Given the description of an element on the screen output the (x, y) to click on. 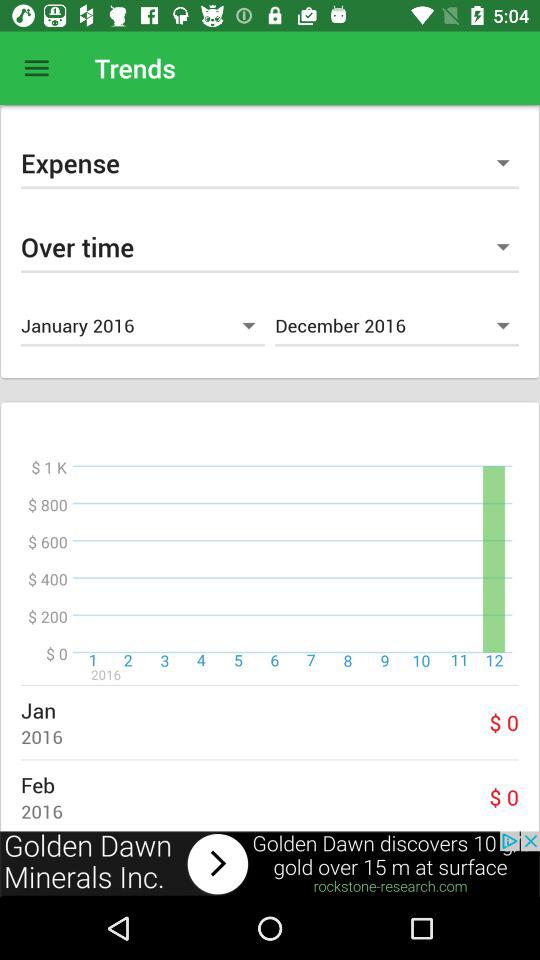
settings (36, 68)
